Given the description of an element on the screen output the (x, y) to click on. 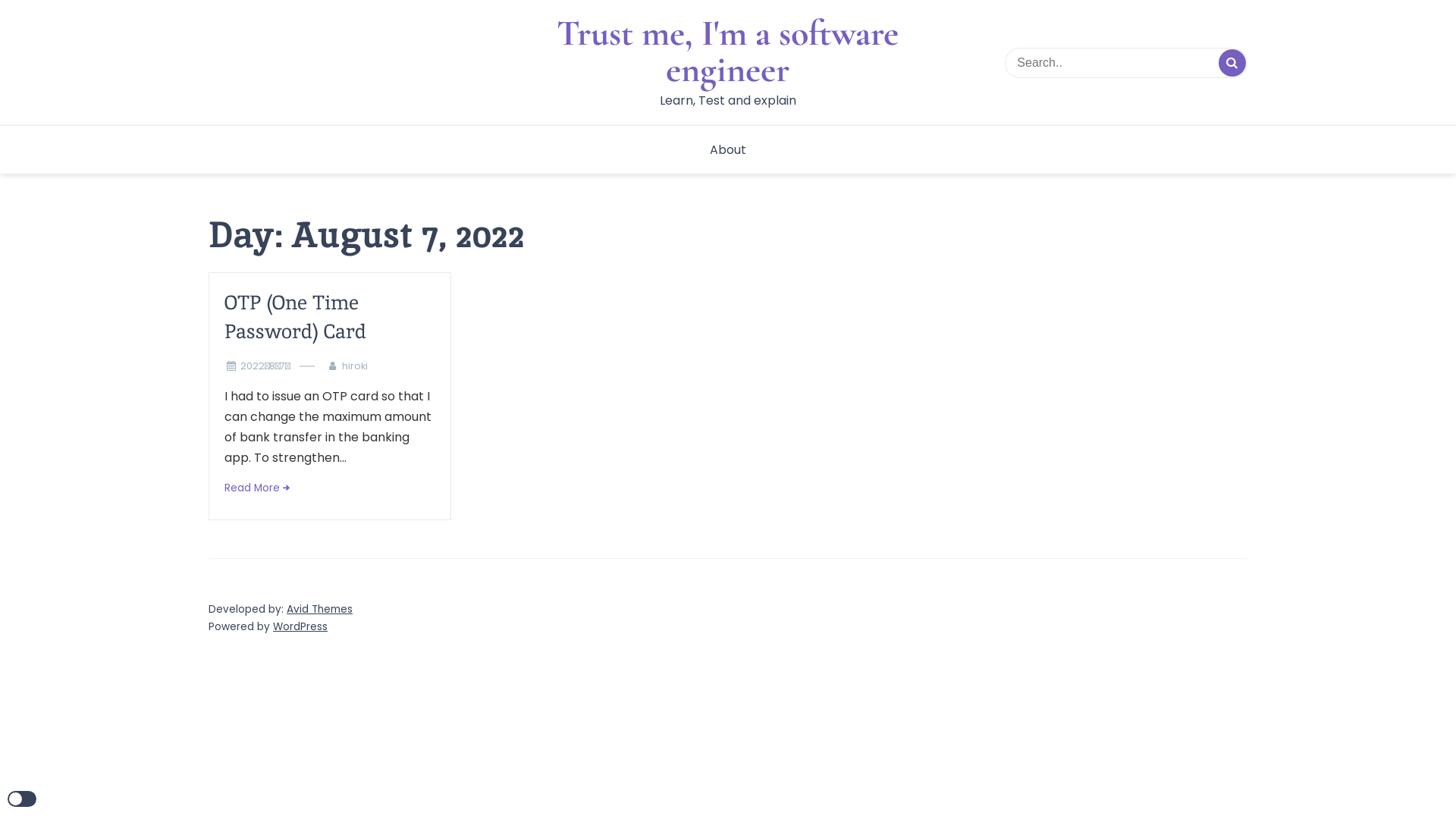
Read More Element type: text (256, 487)
WordPress Element type: text (300, 626)
Avid Themes Element type: text (319, 609)
Trust me, I'm a software engineer Element type: text (728, 51)
About Element type: text (727, 149)
hiroki Element type: text (358, 365)
OTP (One Time Password) Card Element type: text (329, 317)
